Given the description of an element on the screen output the (x, y) to click on. 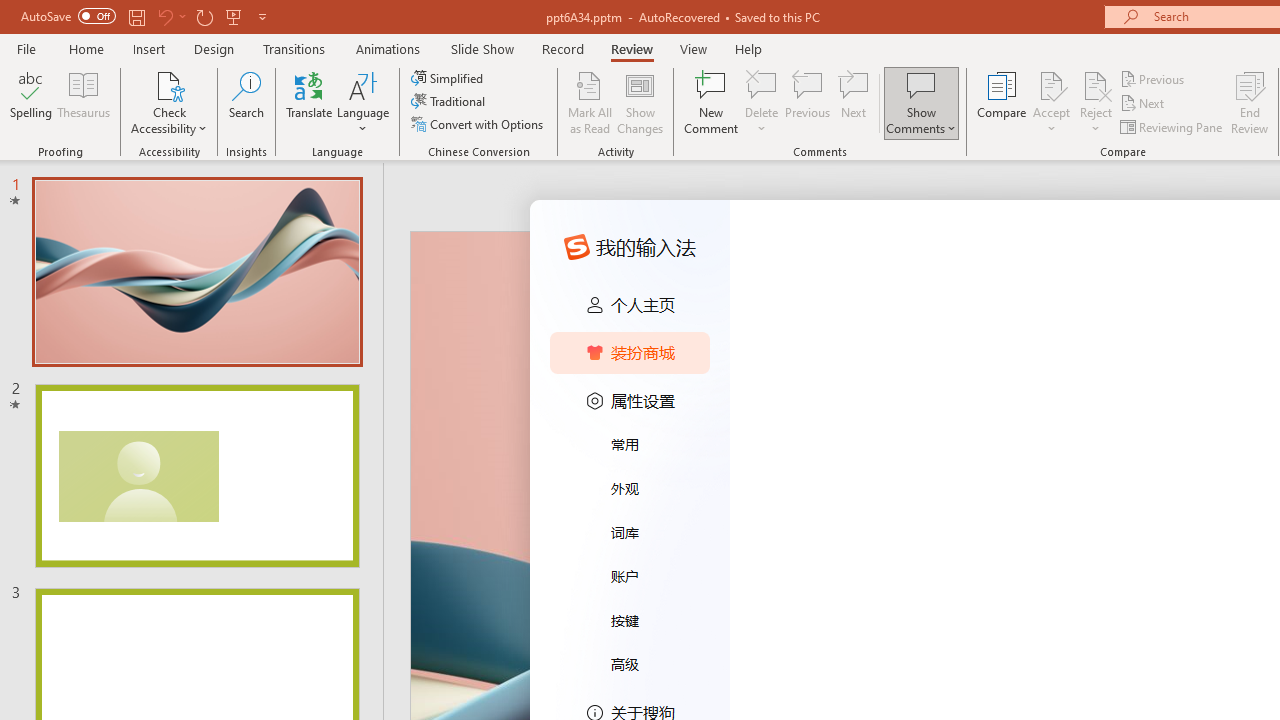
Mark All as Read (589, 102)
Language (363, 102)
New Comment (711, 102)
Accept Change (1051, 84)
Show Changes (639, 102)
Reject (1096, 102)
End Review (1249, 102)
Traditional (449, 101)
